Given the description of an element on the screen output the (x, y) to click on. 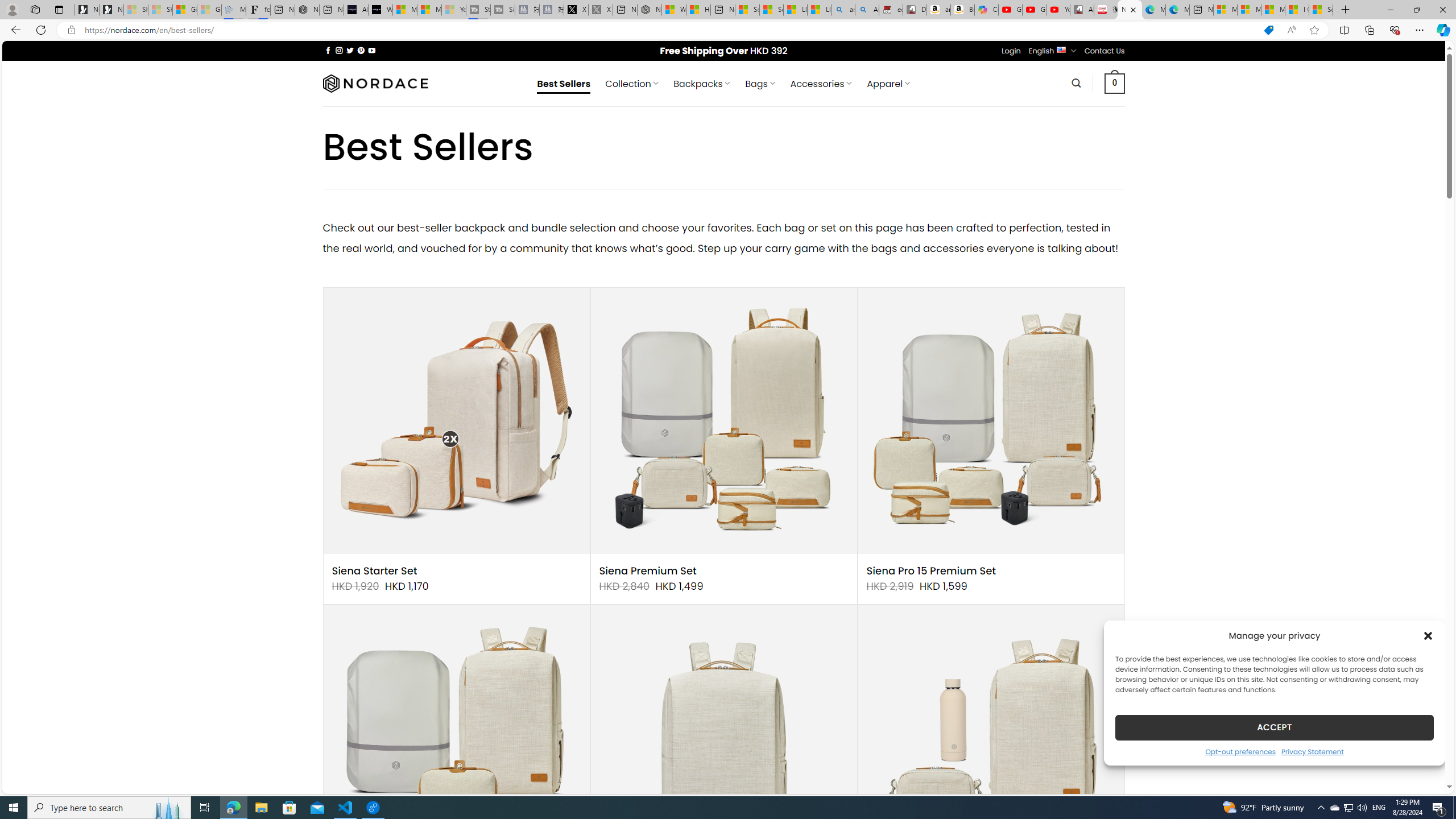
Nordace - #1 Japanese Best-Seller - Siena Smart Backpack (306, 9)
amazon - Search (843, 9)
X (575, 9)
Huge shark washes ashore at New York City beach | Watch (697, 9)
Nordace - Best Sellers (1129, 9)
